Given the description of an element on the screen output the (x, y) to click on. 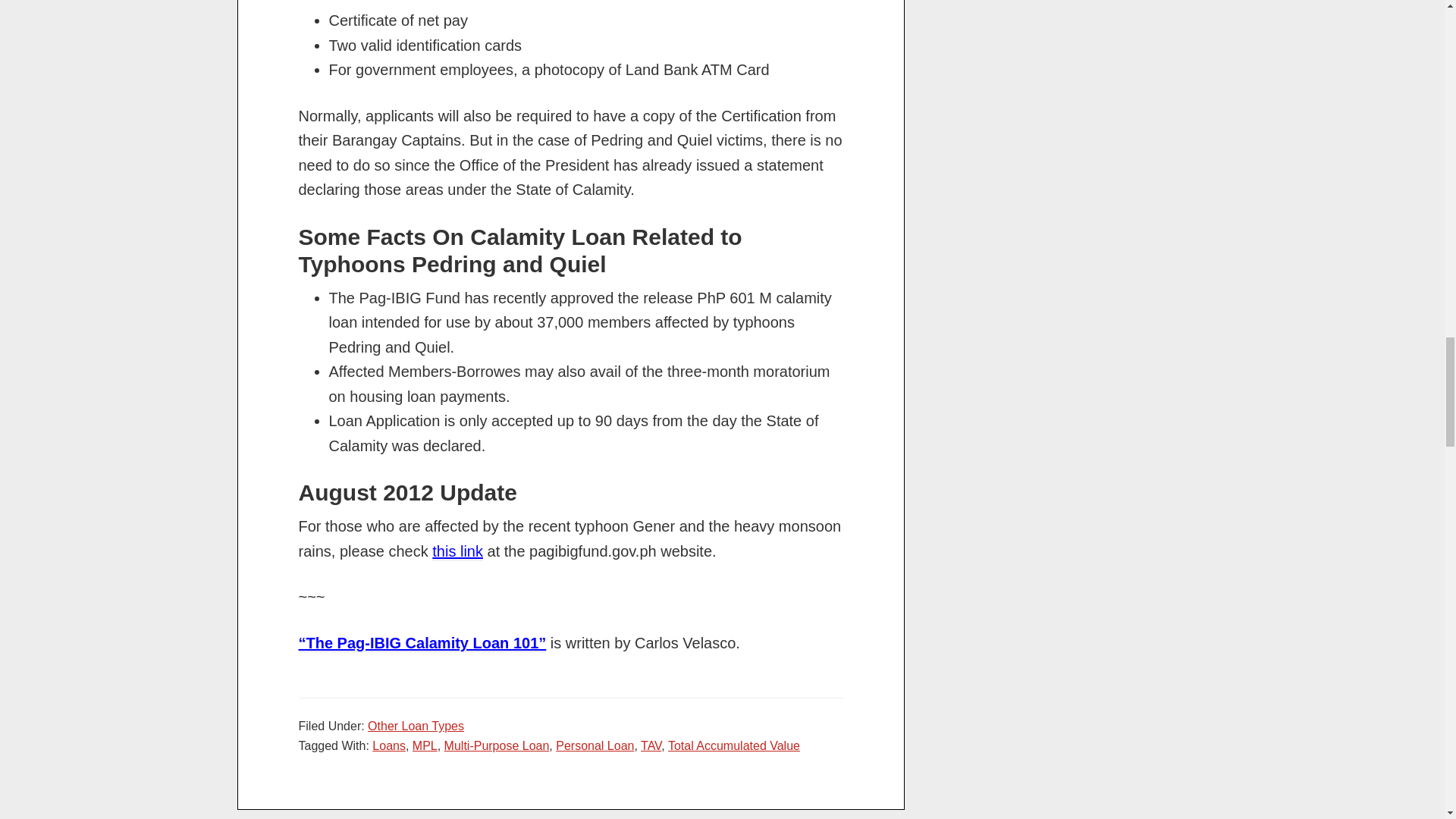
TAV (650, 745)
this link (457, 551)
Pag-IBIG Calamity Loan (422, 642)
MPL (425, 745)
Total Accumulated Value (733, 745)
Personal Loan (594, 745)
Other Loan Types (416, 725)
Loans (389, 745)
typhoon gener (457, 551)
Multi-Purpose Loan (497, 745)
